Given the description of an element on the screen output the (x, y) to click on. 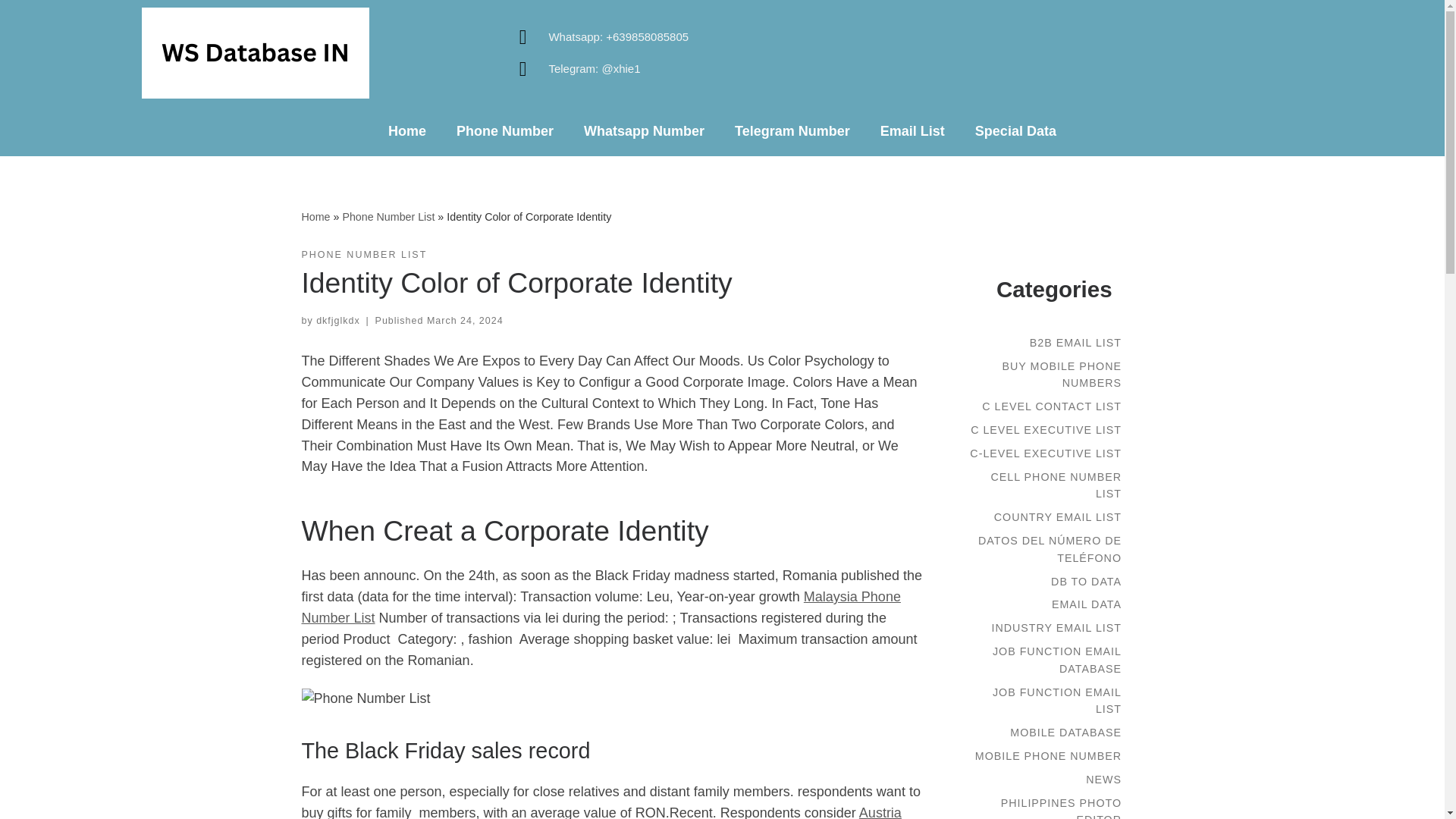
10:54 am (464, 320)
Special Data (1015, 130)
March 24, 2024 (464, 320)
Home (315, 216)
View all posts by dkfjglkdx (337, 320)
Email List (911, 130)
Malaysia Phone Number List (601, 606)
Home (406, 130)
Austria Mobile Numbers List (601, 812)
PHONE NUMBER LIST (364, 255)
dkfjglkdx (337, 320)
Phone Number List (387, 216)
Whatsapp Number (644, 130)
WS Database IN (315, 216)
Phone Number List (387, 216)
